Given the description of an element on the screen output the (x, y) to click on. 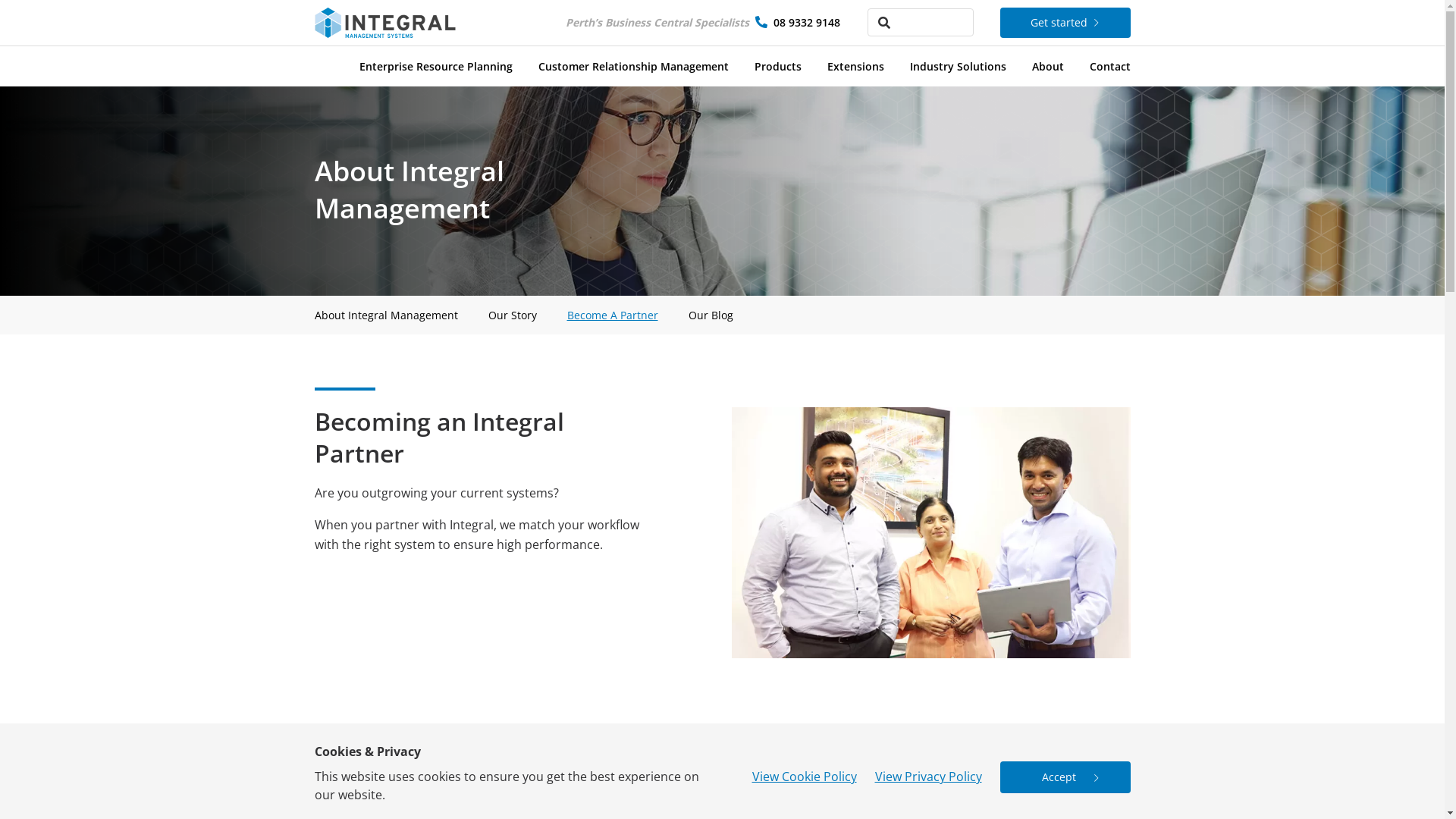
About Element type: text (1047, 63)
Extensions Element type: text (854, 63)
Get started Element type: text (1064, 22)
Accept Element type: text (1064, 777)
View Privacy Policy Element type: text (928, 776)
Search Element type: text (41, 18)
Enterprise Resource Planning Element type: text (435, 63)
About Integral Management Element type: text (385, 314)
Products Element type: text (776, 63)
Contact Element type: text (1108, 63)
Our Blog Element type: text (710, 314)
Industry Solutions Element type: text (958, 63)
08 9332 9148 Element type: text (806, 22)
View Cookie Policy Element type: text (804, 776)
Become A Partner Element type: text (612, 314)
Our Story Element type: text (512, 314)
Customer Relationship Management Element type: text (633, 63)
